Given the description of an element on the screen output the (x, y) to click on. 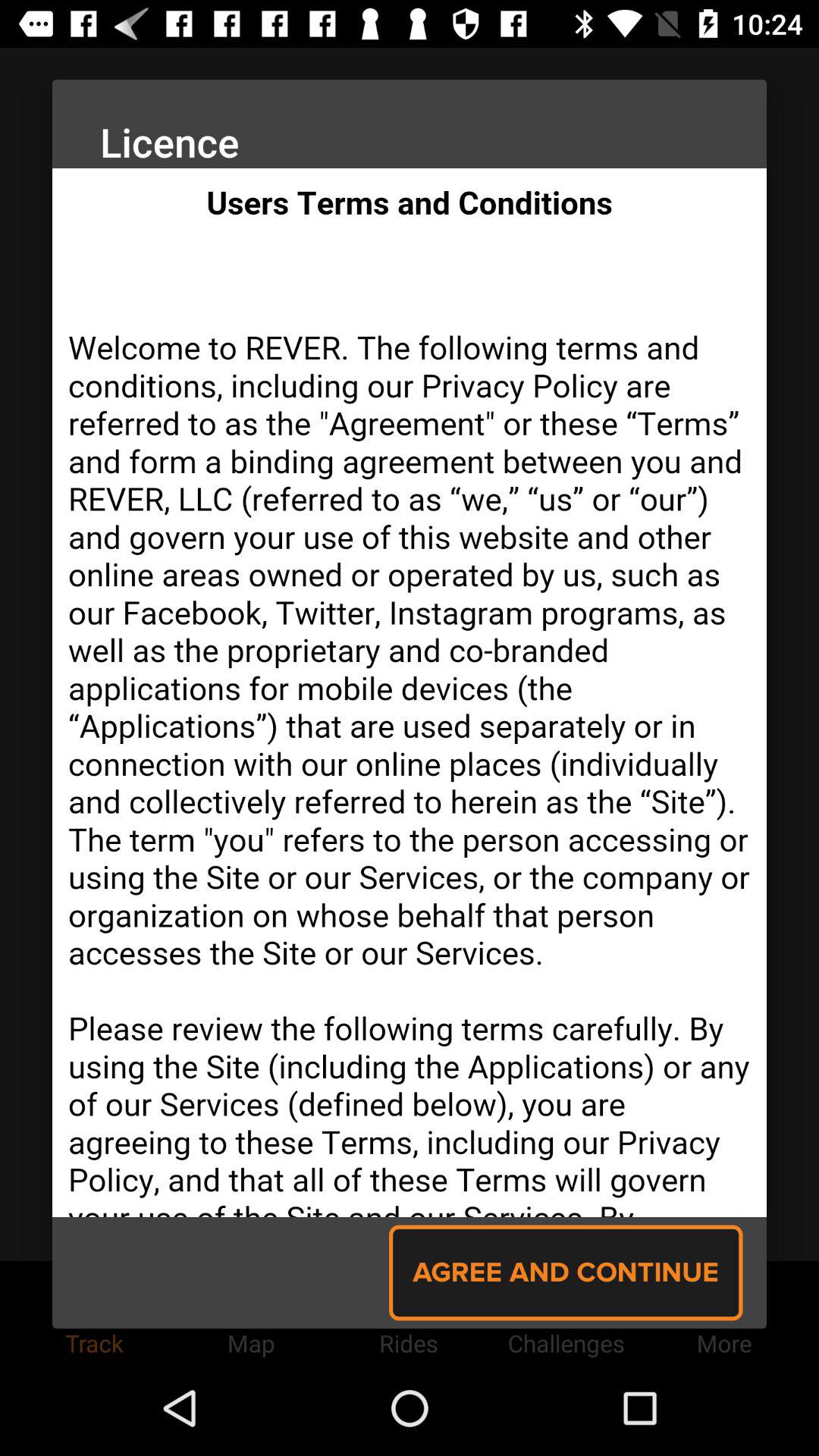
scroll through text (409, 692)
